Given the description of an element on the screen output the (x, y) to click on. 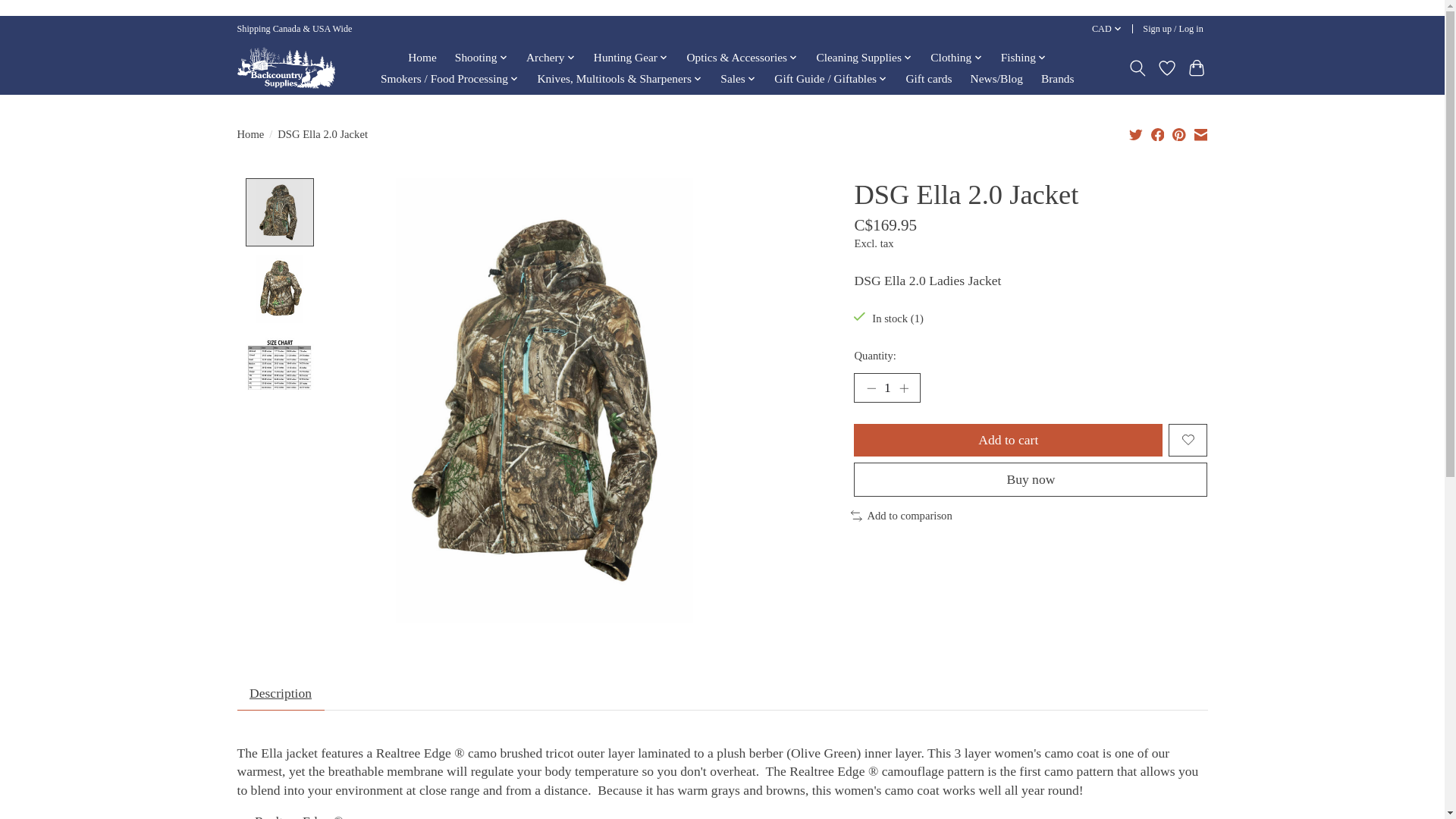
Share by Email (1200, 133)
Shooting (481, 56)
Share on Facebook (1157, 133)
My account (1173, 28)
Backcountry Supplies (284, 67)
CAD (1106, 28)
1 (886, 388)
Share on Twitter (1135, 133)
Home (422, 56)
Share on Pinterest (1178, 133)
